Given the description of an element on the screen output the (x, y) to click on. 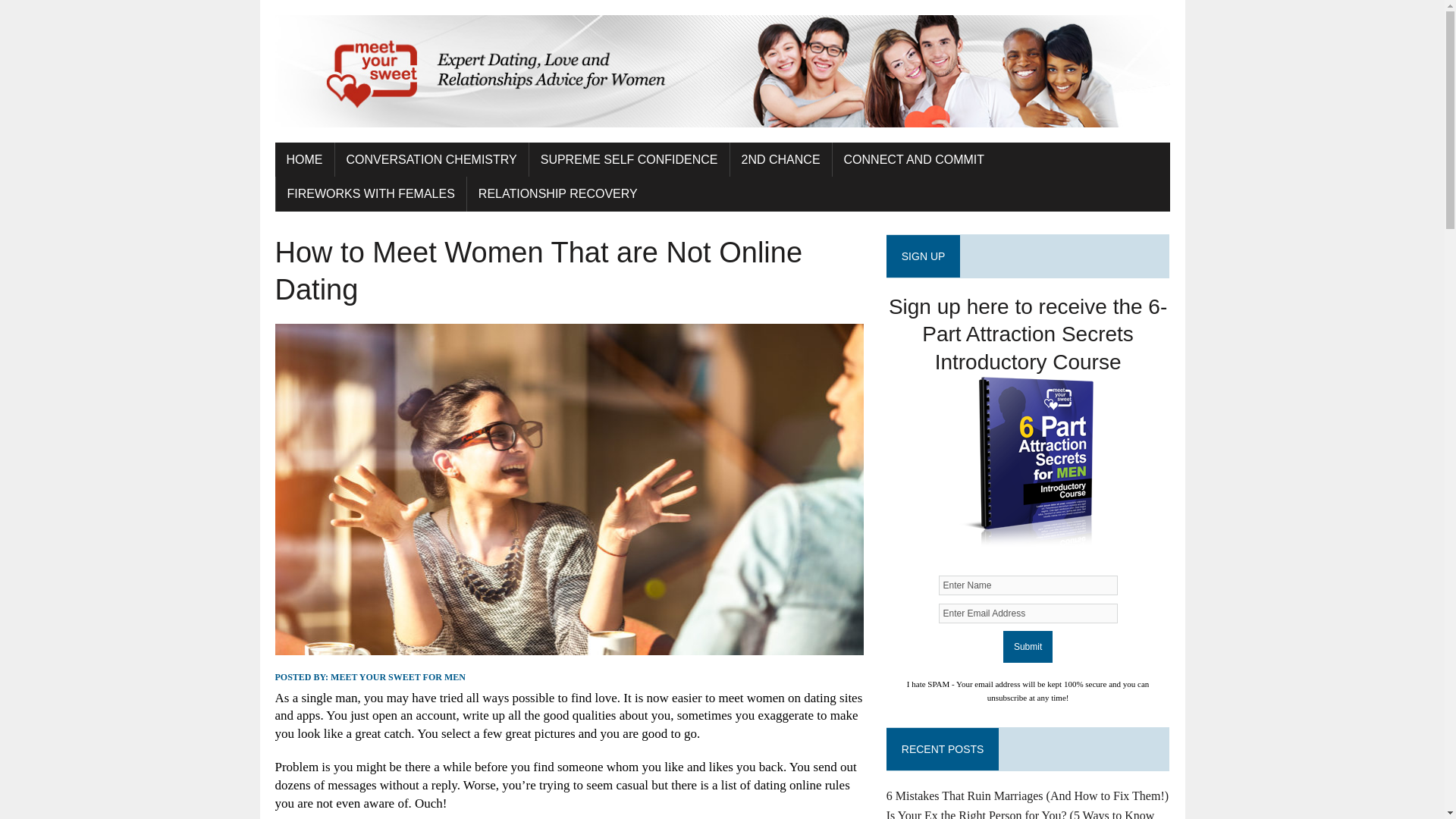
HOME (304, 159)
Enter Email Address (1028, 613)
FIREWORKS WITH FEMALES (370, 193)
Submit (1027, 646)
2ND CHANCE (780, 159)
Submit (1027, 646)
CONNECT AND COMMIT (913, 159)
CONVERSATION CHEMISTRY (431, 159)
SUPREME SELF CONFIDENCE (629, 159)
Enter Name (1028, 585)
MEET YOUR SWEET FOR MEN (397, 676)
Meet Your Sweet Men Blog (722, 71)
RELATIONSHIP RECOVERY (558, 193)
